Given the description of an element on the screen output the (x, y) to click on. 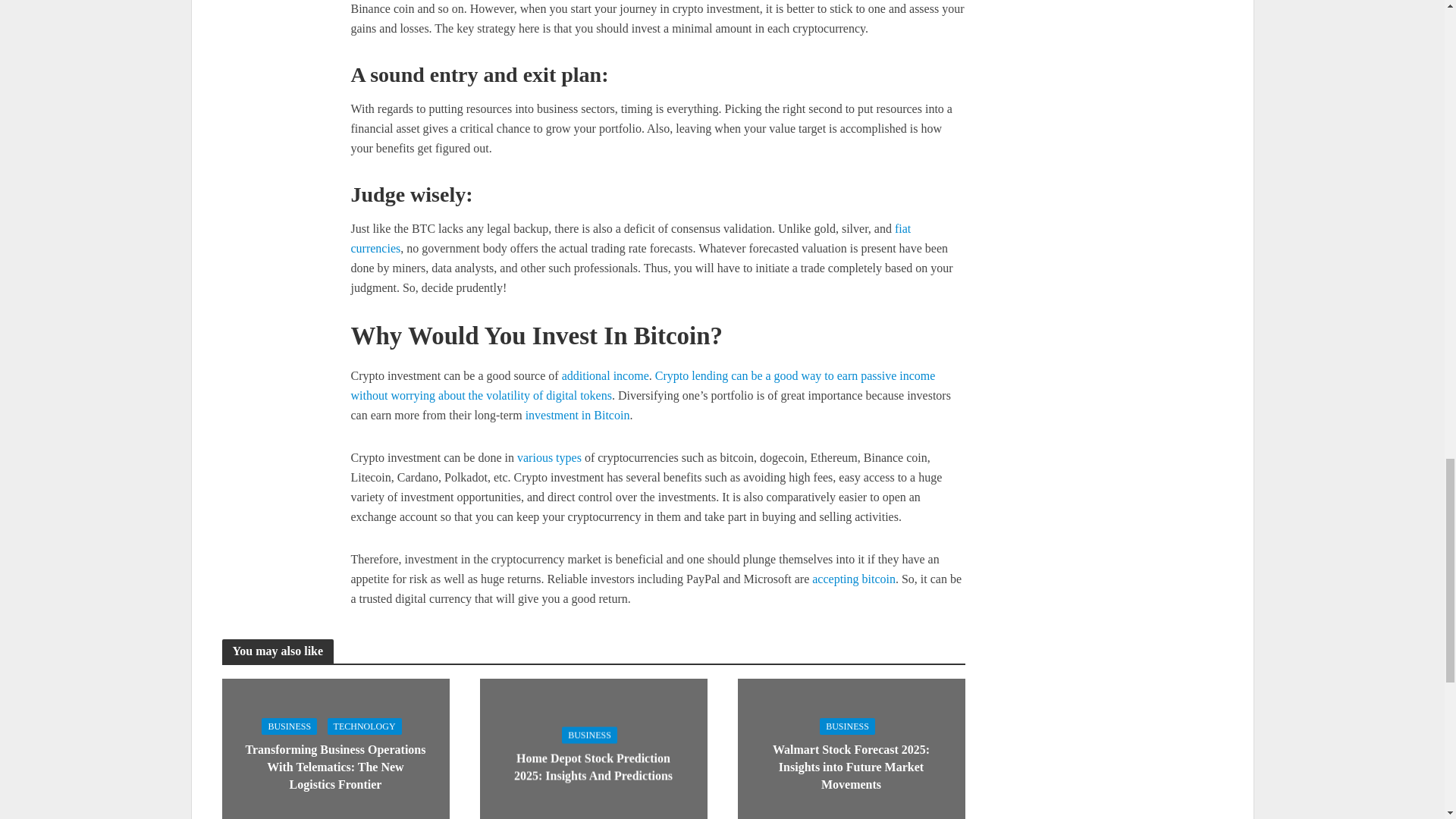
Home Depot Stock Prediction 2025: Insights And Predictions (592, 753)
